Given the description of an element on the screen output the (x, y) to click on. 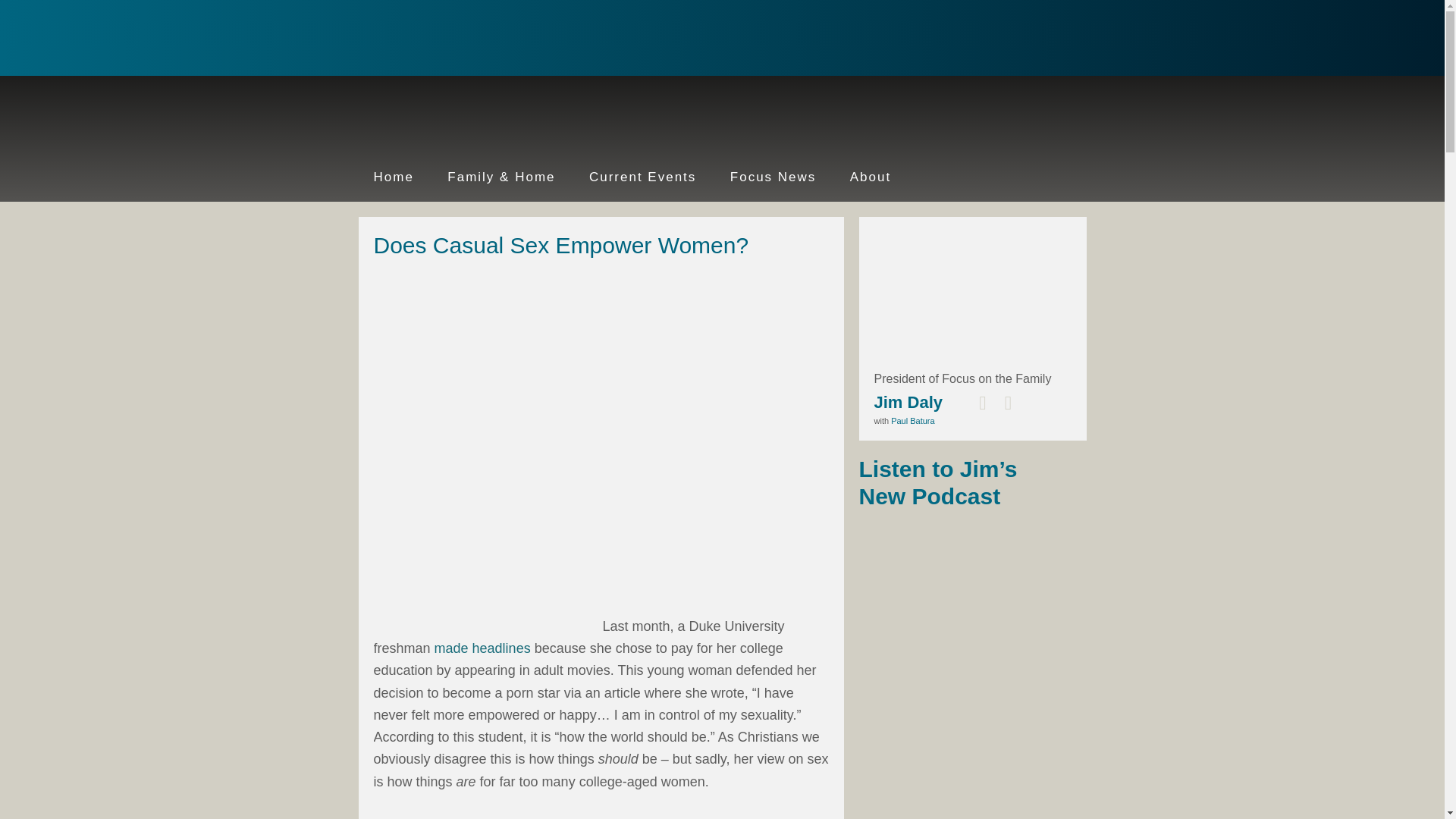
Jim Daly (456, 39)
Current Events (642, 177)
made headlines (482, 648)
About (869, 177)
Focus News (772, 177)
Jim Daly (907, 402)
Paul Batura (912, 420)
Home (393, 177)
